Given the description of an element on the screen output the (x, y) to click on. 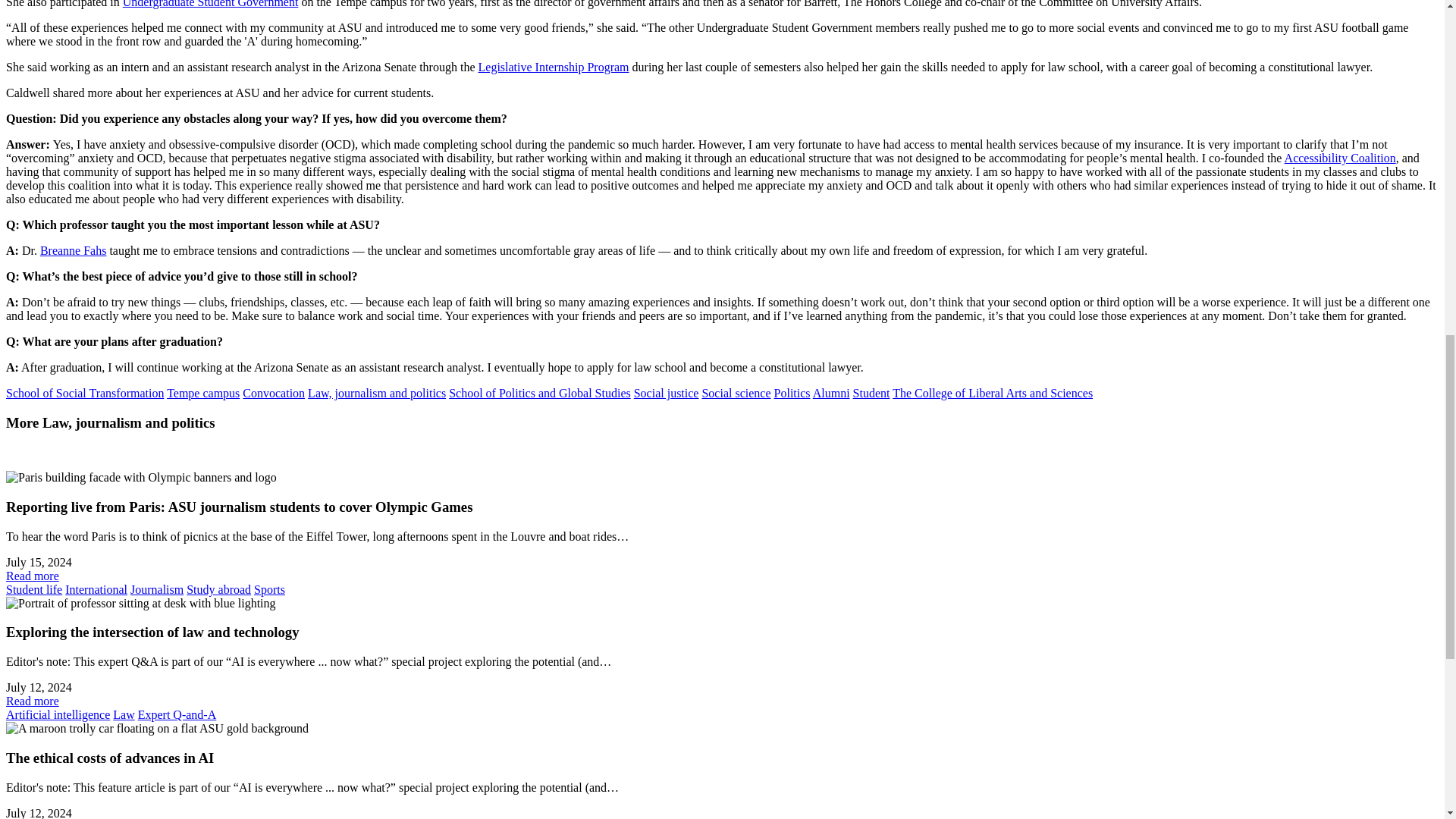
Politics (792, 392)
Social justice (665, 392)
Expert Q-and-A (177, 714)
Artificial intelligence (57, 714)
Alumni (831, 392)
Journalism (157, 589)
Legislative Internship Program (552, 66)
Read more (32, 575)
Sports (269, 589)
The College of Liberal Arts and Sciences (992, 392)
School of Social Transformation (84, 392)
School of Politics and Global Studies (539, 392)
Law, journalism and politics (376, 392)
Convocation (273, 392)
Student life (33, 589)
